Given the description of an element on the screen output the (x, y) to click on. 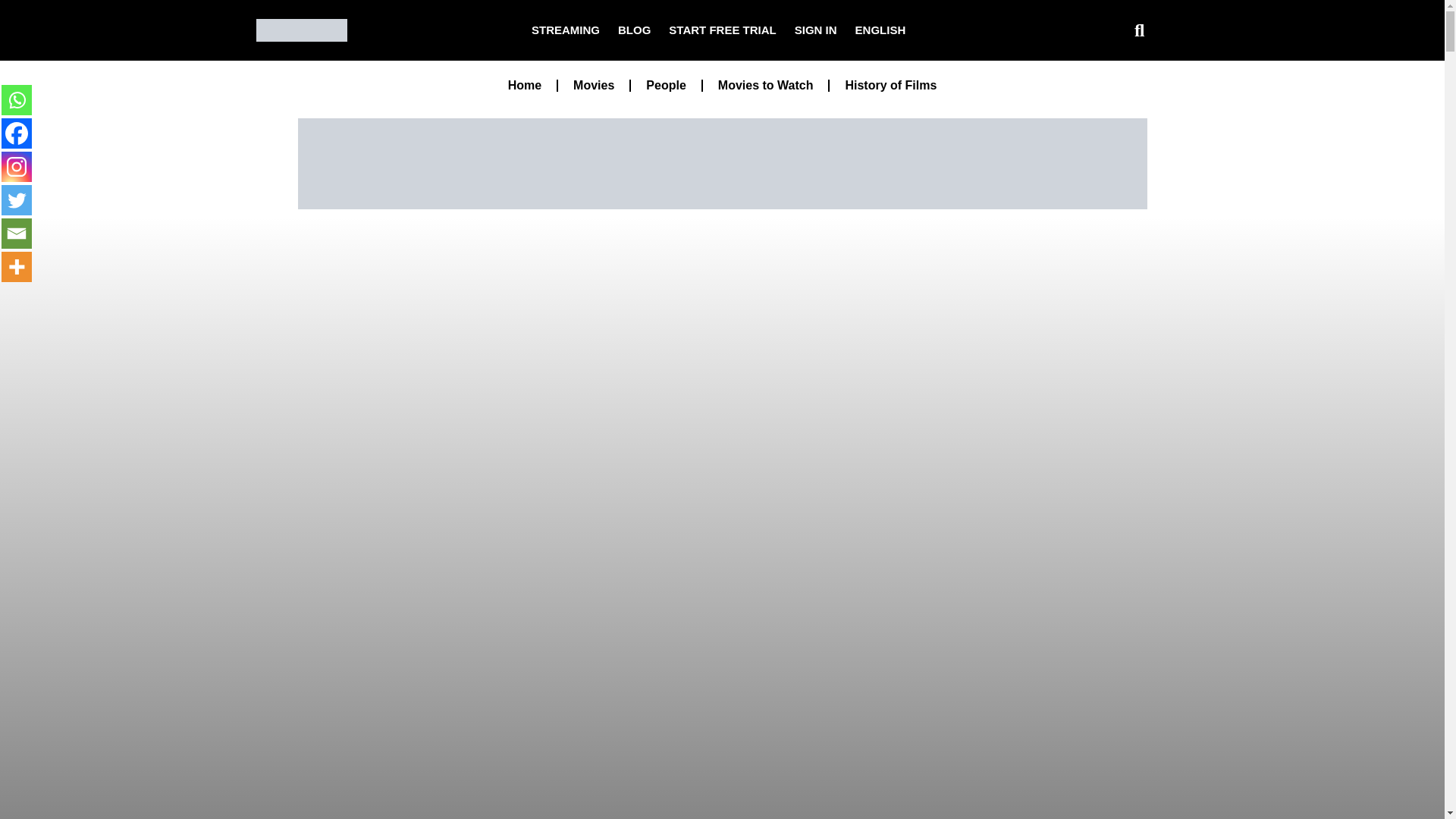
Movies (592, 85)
START FREE TRIAL (721, 30)
People (665, 85)
Home (524, 85)
ENGLISH (880, 30)
History of Films (890, 85)
SIGN IN (815, 30)
Movies to Watch (765, 85)
STREAMING (565, 30)
English (880, 30)
